Given the description of an element on the screen output the (x, y) to click on. 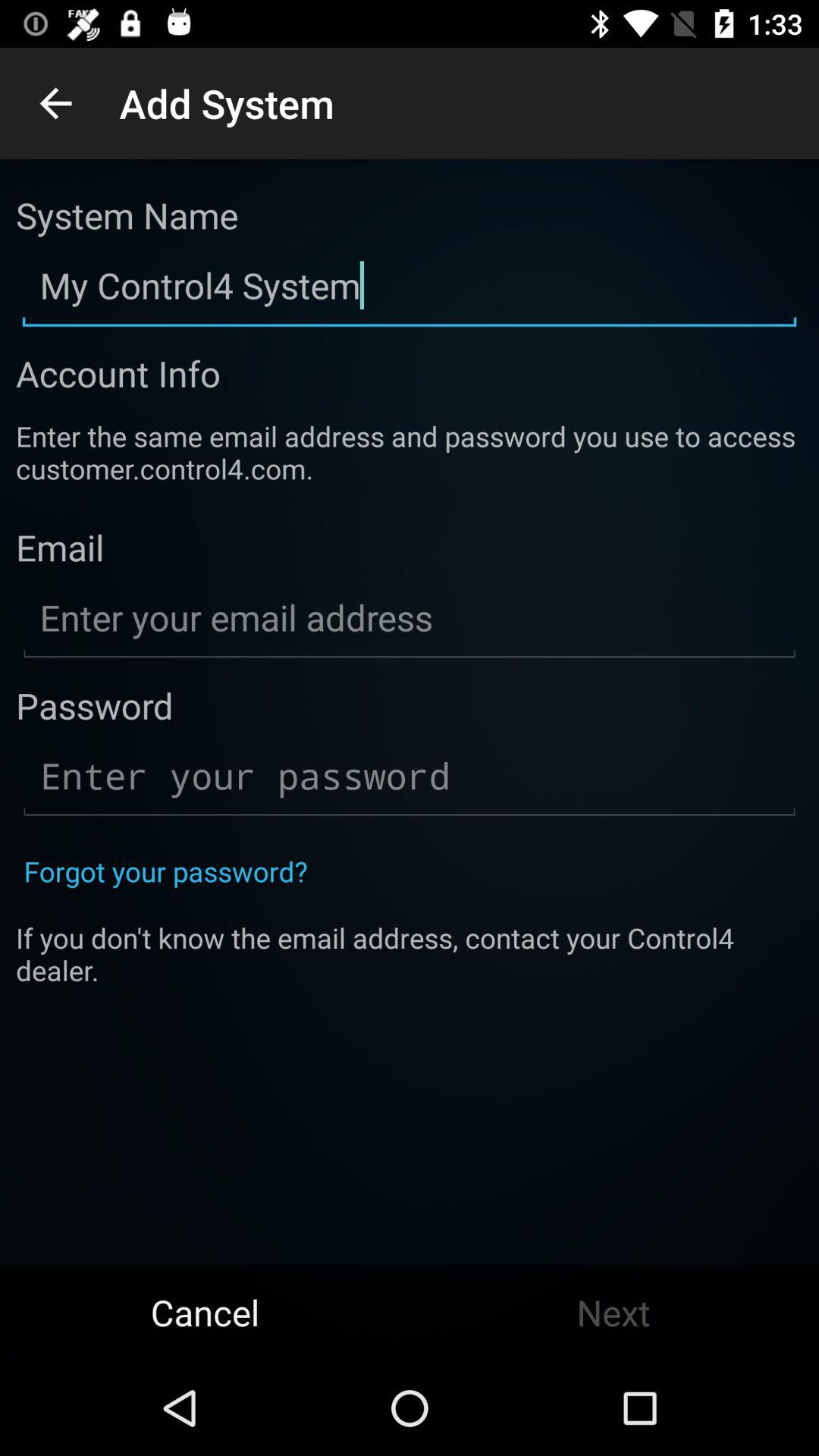
select the text below email (409, 618)
select forgot your password (165, 871)
